Given the description of an element on the screen output the (x, y) to click on. 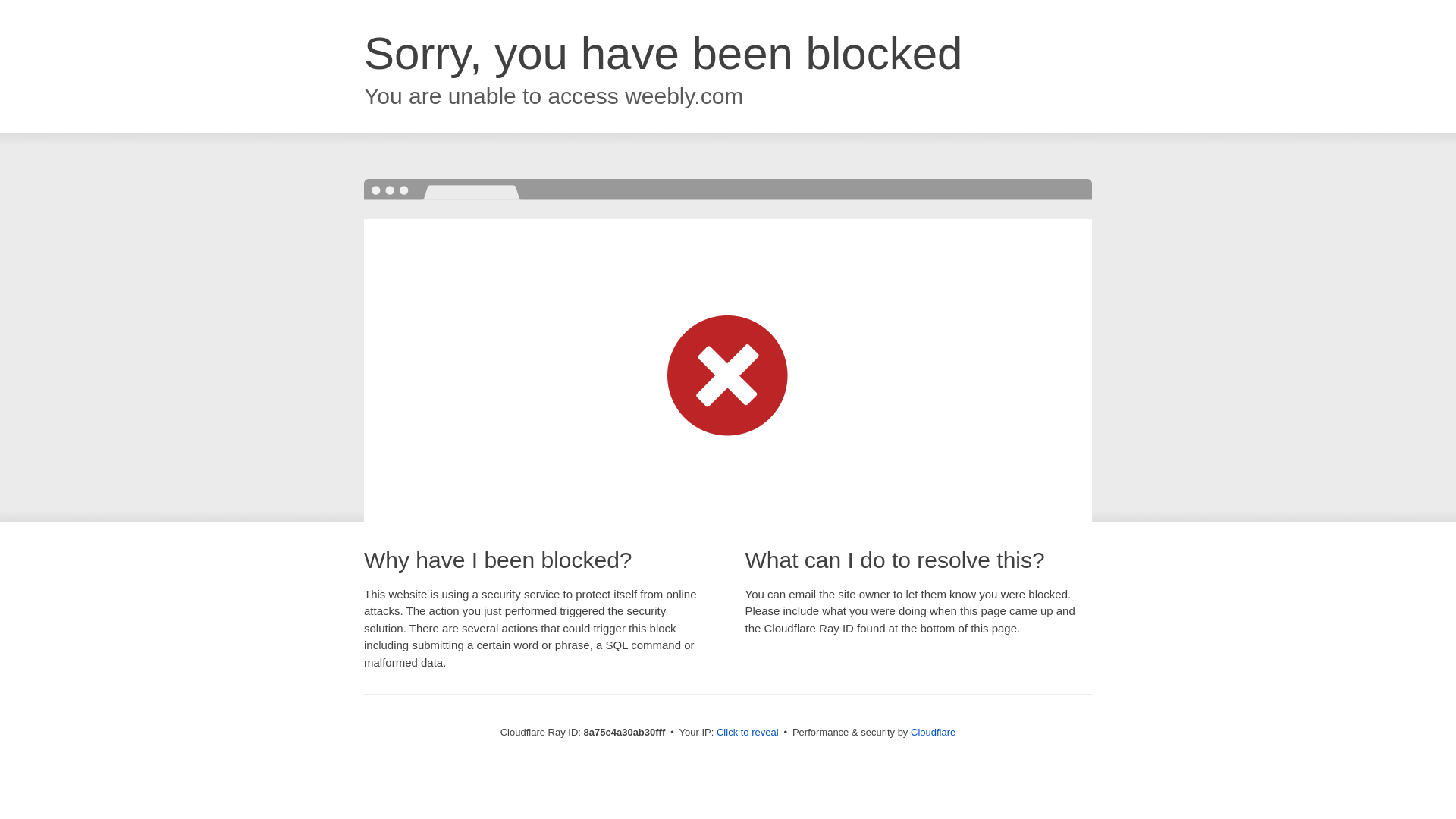
Click to reveal (747, 732)
Cloudflare (933, 731)
